Given the description of an element on the screen output the (x, y) to click on. 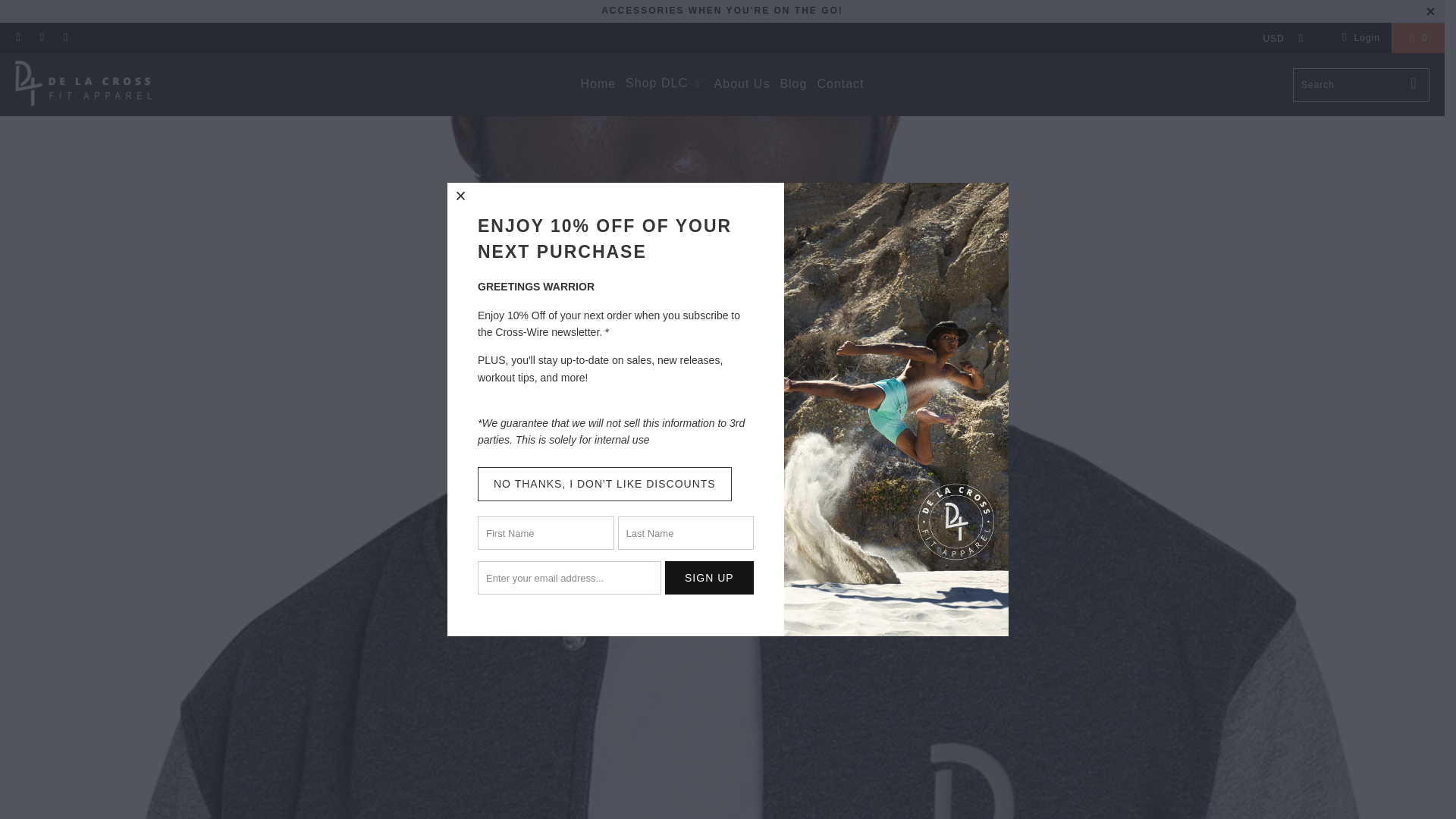
Sign Up (709, 577)
De La Cross Fit Apparel on Facebook (41, 37)
My Account  (1358, 37)
Active Accessories (722, 9)
De La Cross Fit Apparel on Instagram (64, 37)
Email De La Cross Fit Apparel (17, 37)
De La Cross Fit Apparel (82, 84)
